Given the description of an element on the screen output the (x, y) to click on. 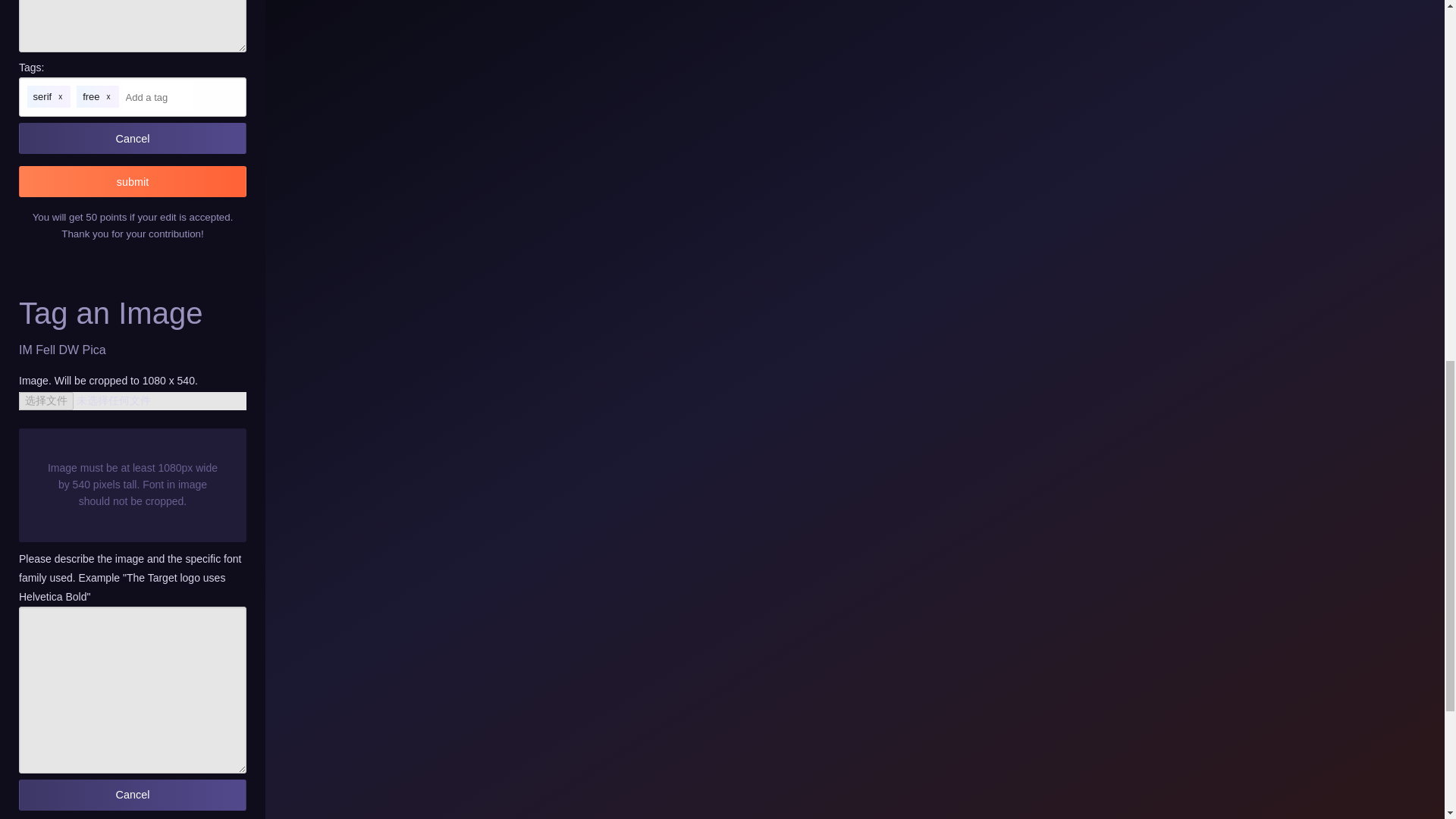
submit (132, 181)
submit (132, 181)
Cancel (132, 794)
Cancel (132, 137)
